Given the description of an element on the screen output the (x, y) to click on. 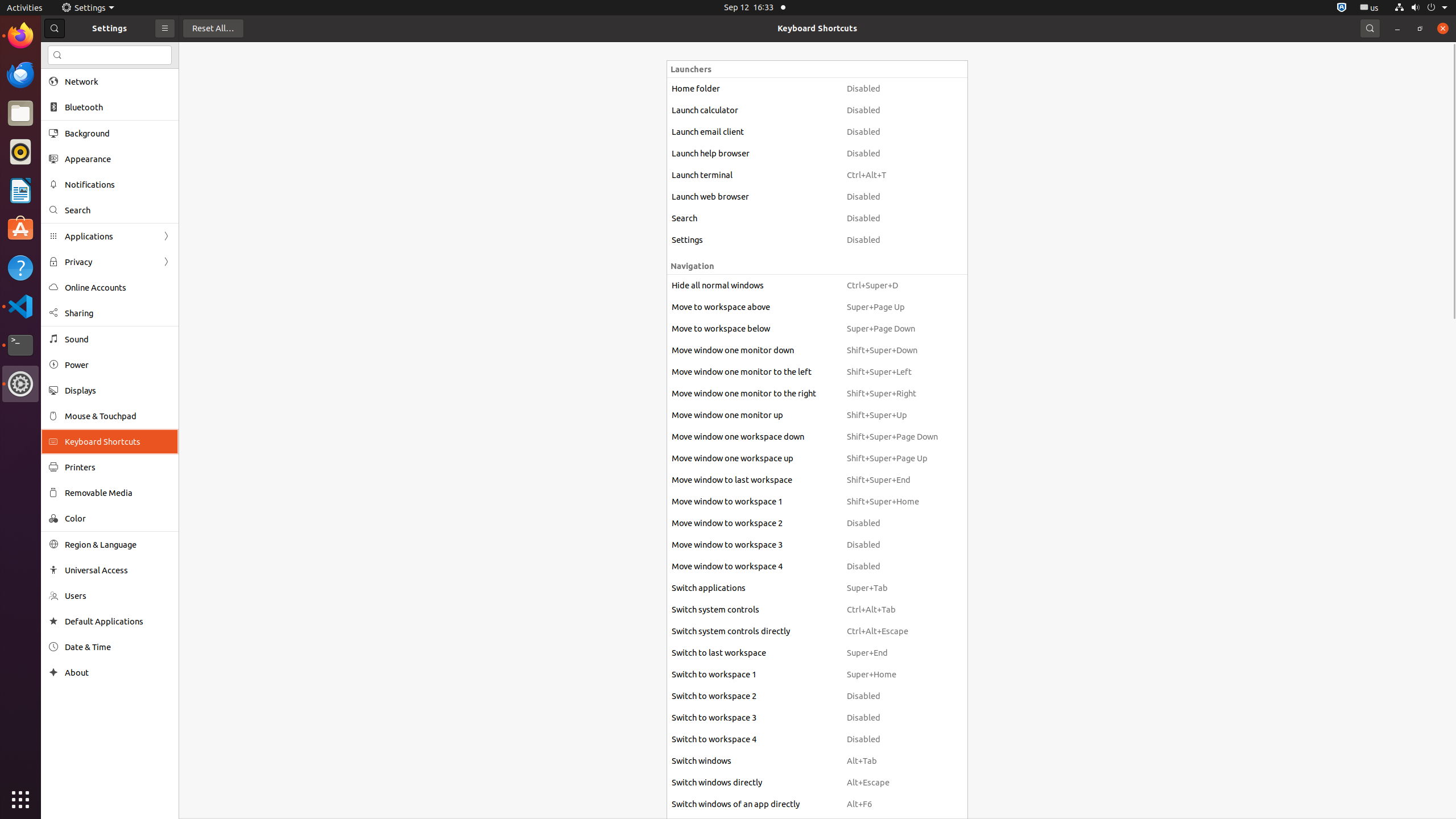
Home folder Element type: label (753, 88)
Users Element type: label (117, 595)
Ctrl+Alt+Escape Element type: label (891, 630)
Displays Element type: label (117, 390)
